Given the description of an element on the screen output the (x, y) to click on. 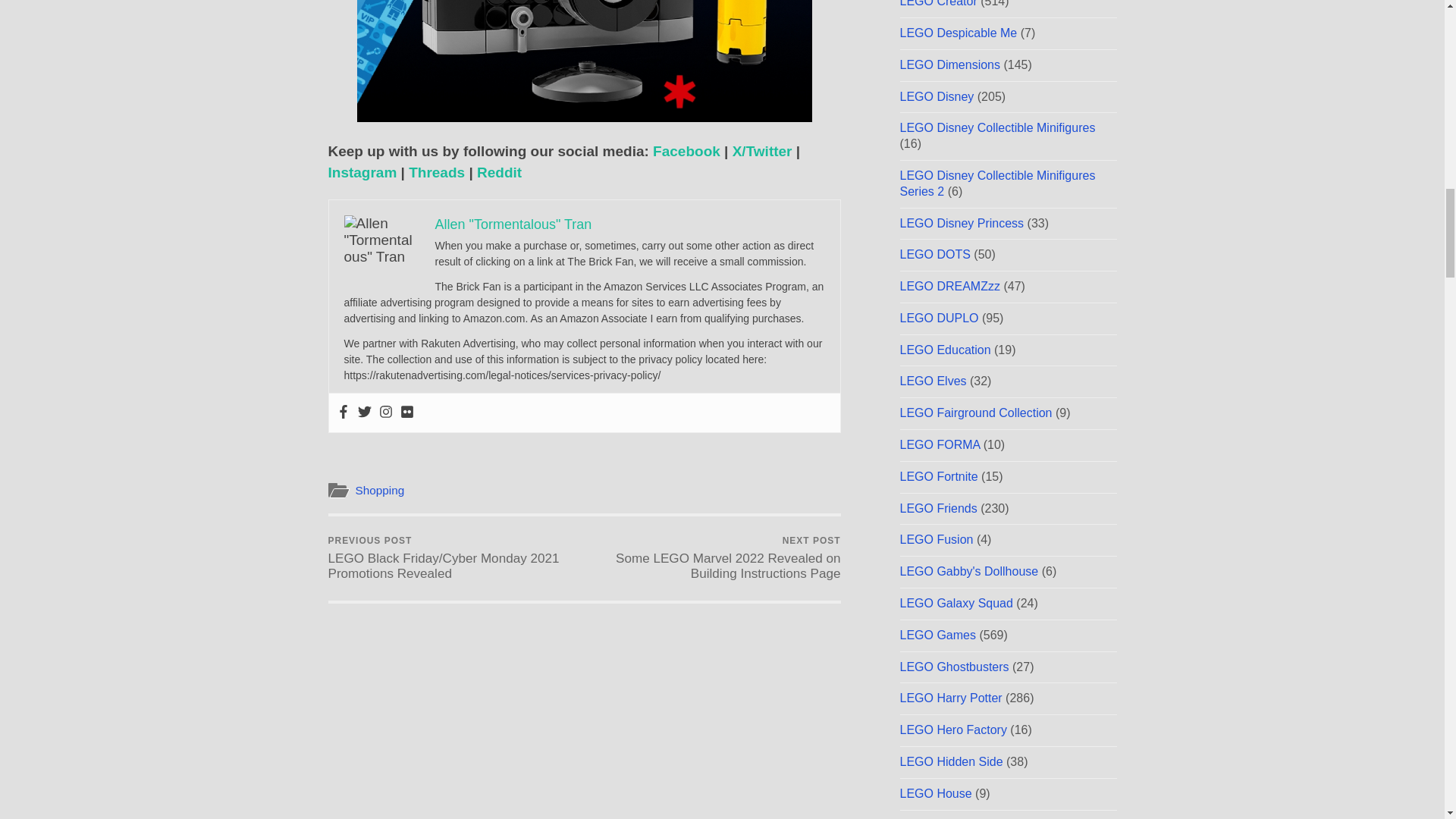
Threads (436, 172)
Shopping (379, 490)
Reddit (499, 172)
Allen "Tormentalous" Tran (513, 224)
Facebook (686, 150)
Instagram (361, 172)
